Given the description of an element on the screen output the (x, y) to click on. 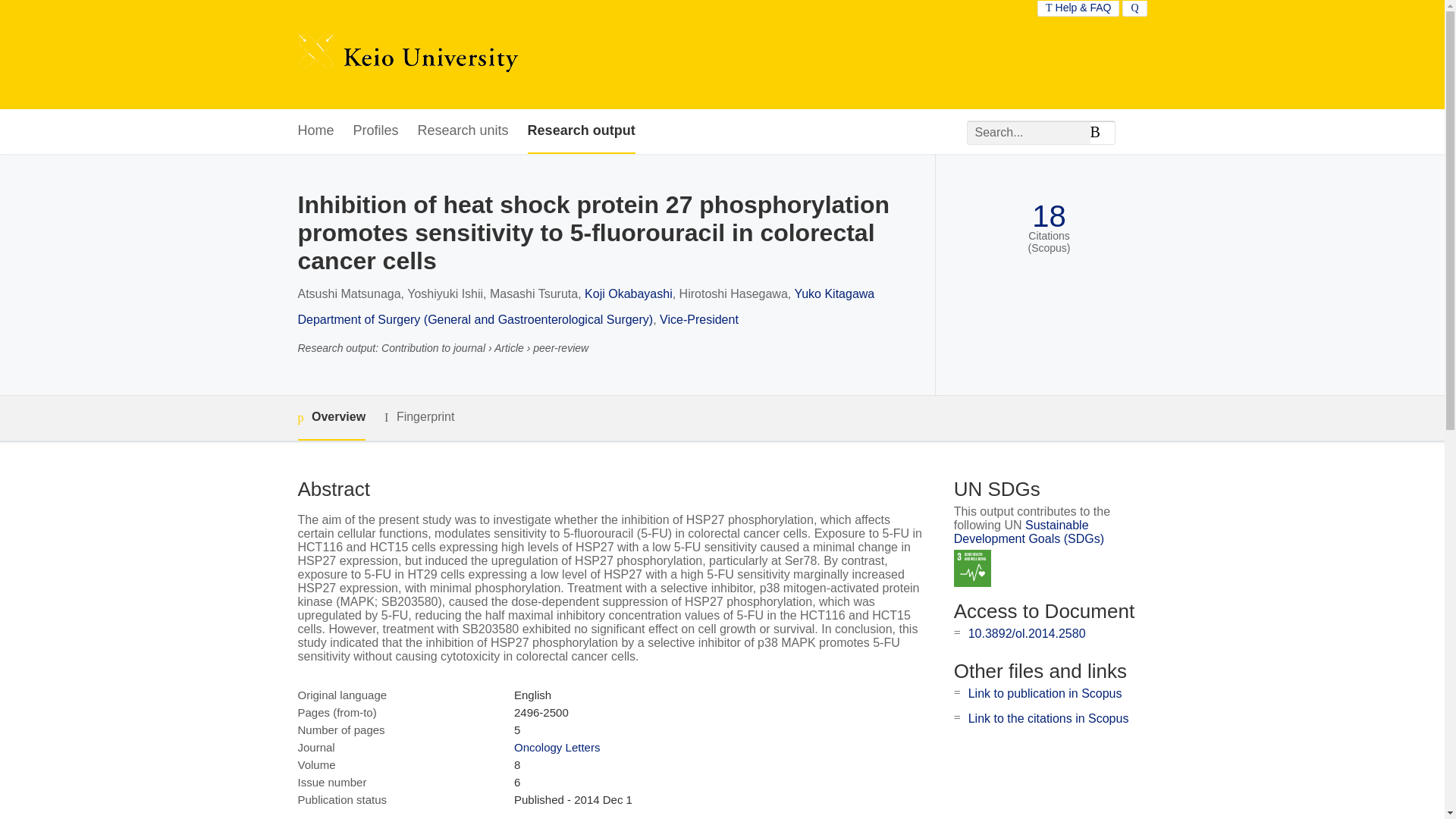
Research units (462, 130)
Oncology Letters (556, 747)
Koji Okabayashi (628, 293)
Yuko Kitagawa (834, 293)
Vice-President (698, 318)
Link to publication in Scopus (1045, 693)
Profiles (375, 130)
Keio University Home (407, 54)
Research output (580, 130)
